Given the description of an element on the screen output the (x, y) to click on. 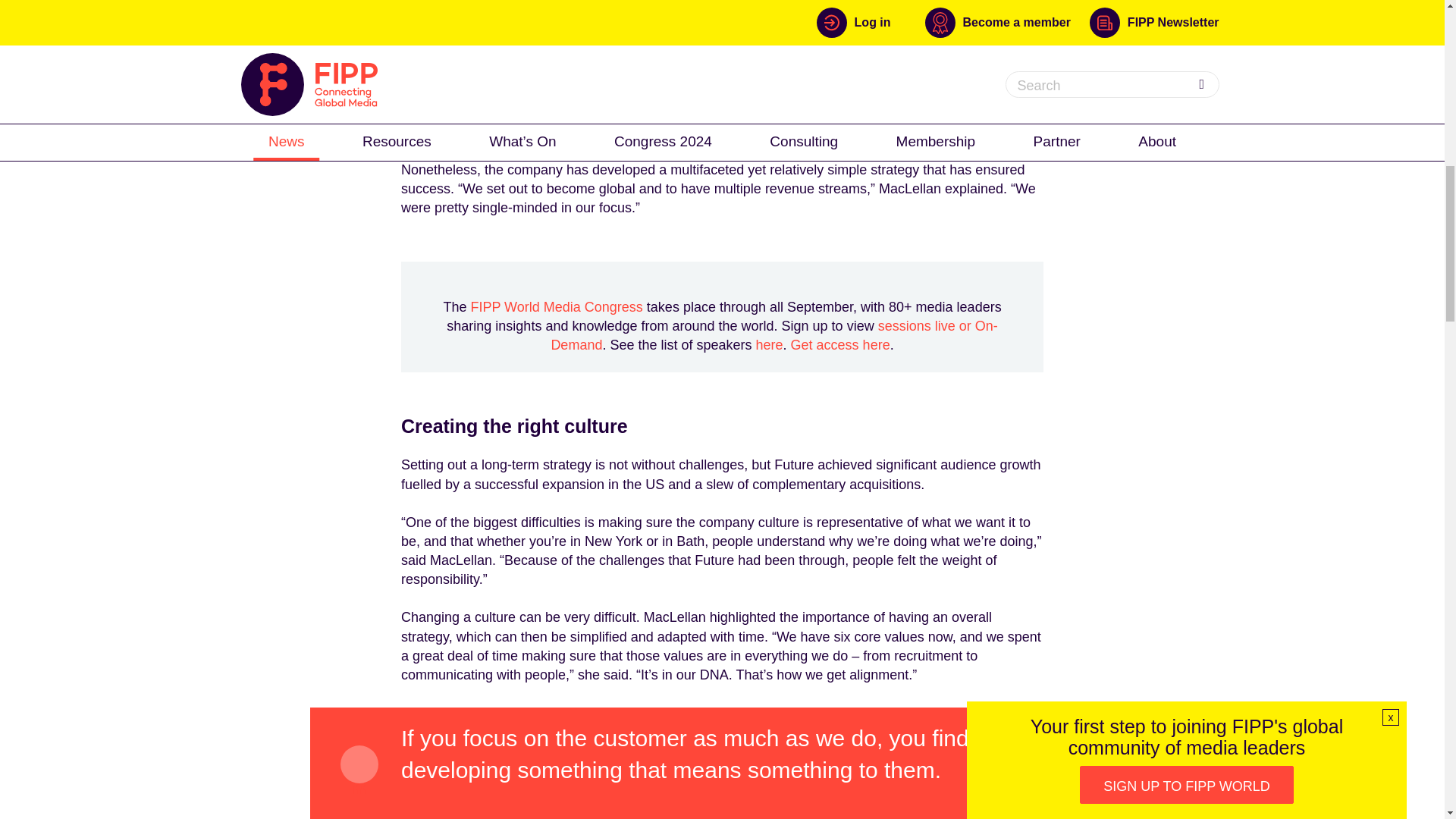
Get access here (839, 344)
FIPP World Media Congress (556, 306)
sessions live or On-Demand (773, 335)
here (769, 344)
